Given the description of an element on the screen output the (x, y) to click on. 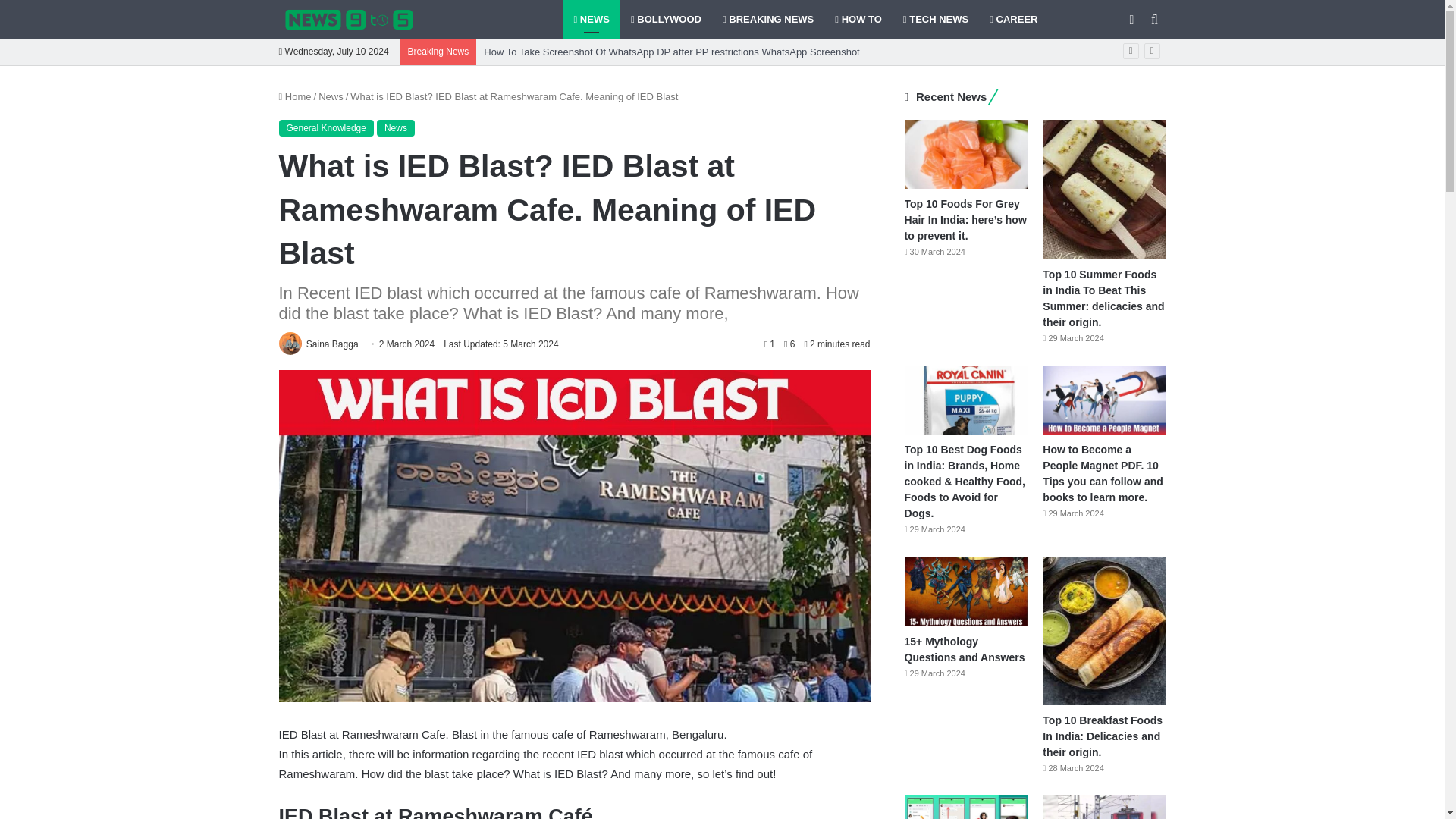
General Knowledge (326, 127)
Home (295, 96)
News (395, 127)
BREAKING NEWS (767, 19)
News (330, 96)
TECH NEWS (935, 19)
CAREER (1013, 19)
BOLLYWOOD (665, 19)
NEWS (591, 19)
news9to5.com (349, 19)
HOW TO (858, 19)
